Given the description of an element on the screen output the (x, y) to click on. 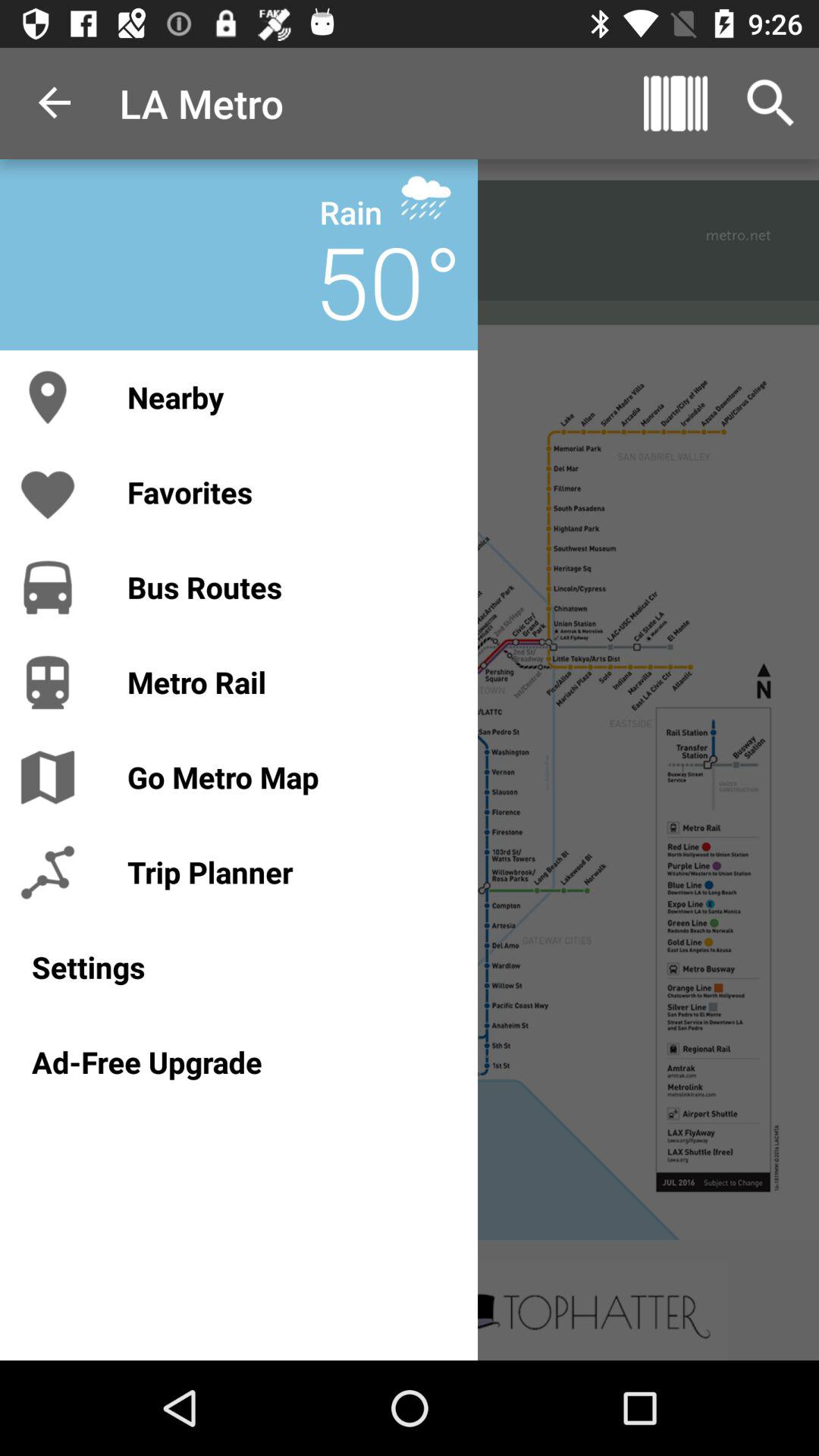
turn on the item to the right of rain (425, 197)
